Given the description of an element on the screen output the (x, y) to click on. 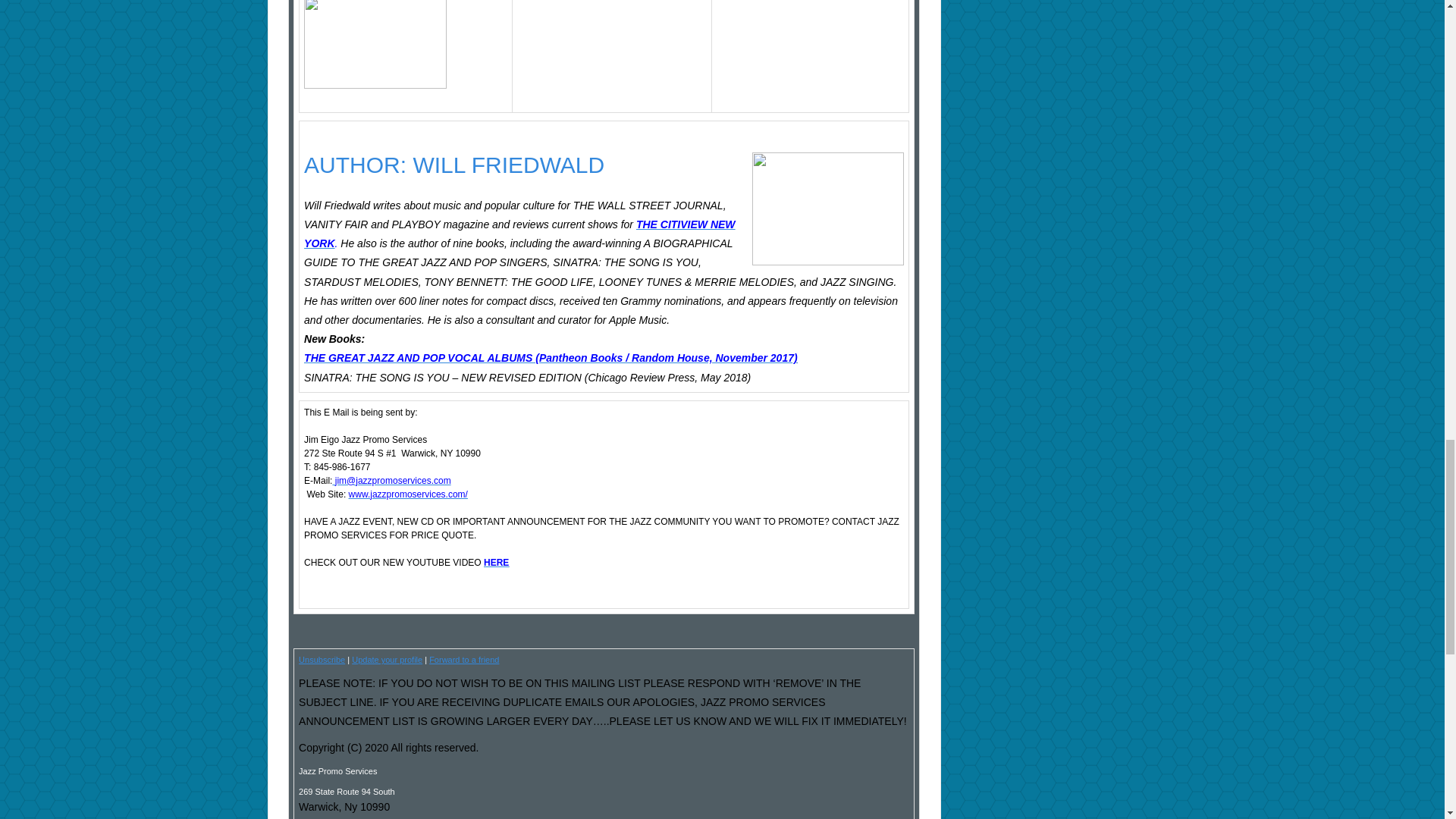
Unsubscribe (321, 659)
HERE (495, 562)
Forward to a friend (464, 659)
Update your profile (387, 659)
THE CITIVIEW NEW YORK (519, 233)
